Given the description of an element on the screen output the (x, y) to click on. 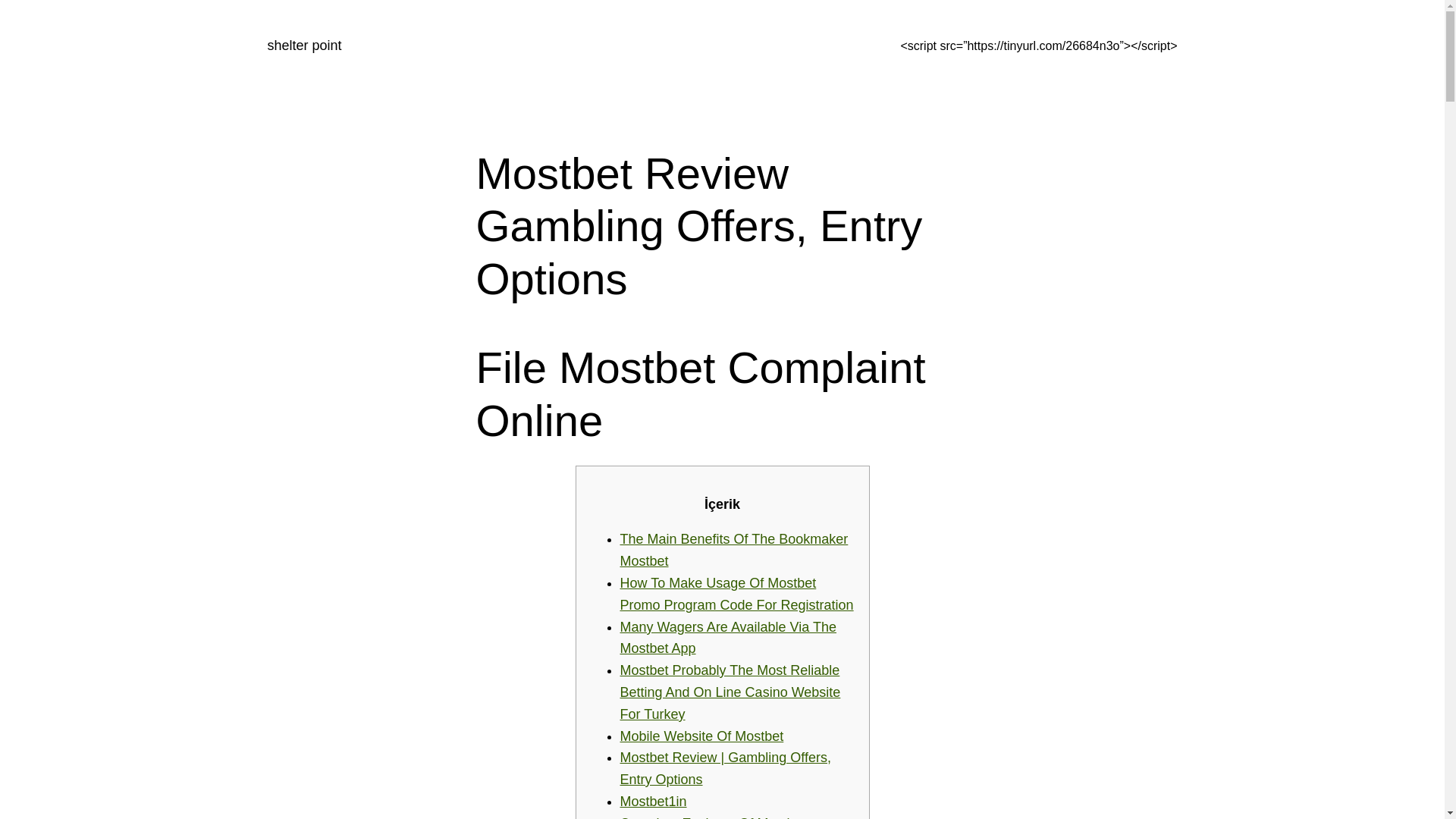
Mobile Website Of Mostbet (702, 735)
Complete Evaluate Of Mostbet (713, 817)
The Main Benefits Of The Bookmaker Mostbet (734, 549)
shelter point (303, 45)
Mostbet1in (653, 801)
Many Wagers Are Available Via The Mostbet App (728, 637)
